Given the description of an element on the screen output the (x, y) to click on. 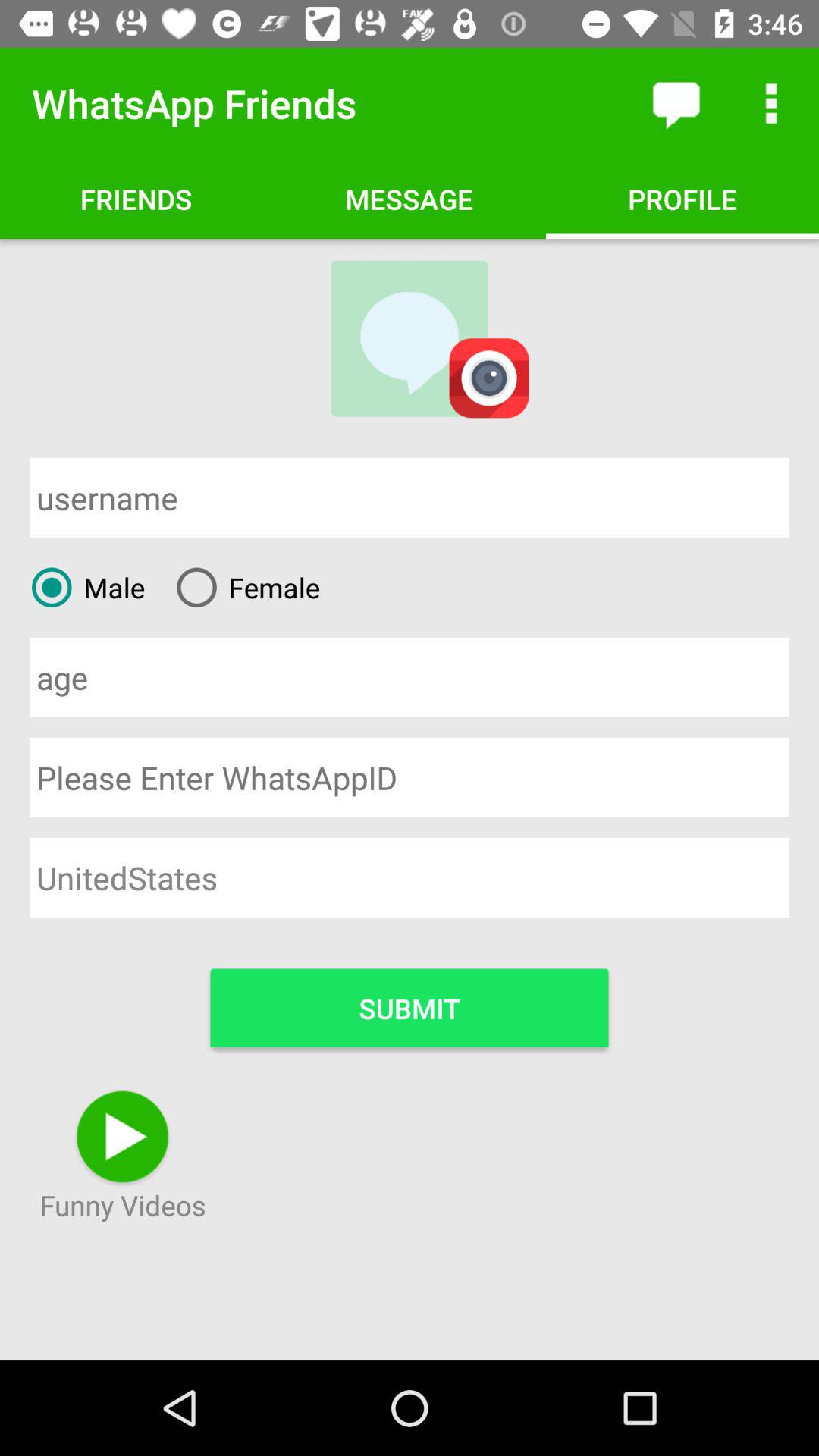
whatsappid text box (409, 777)
